Given the description of an element on the screen output the (x, y) to click on. 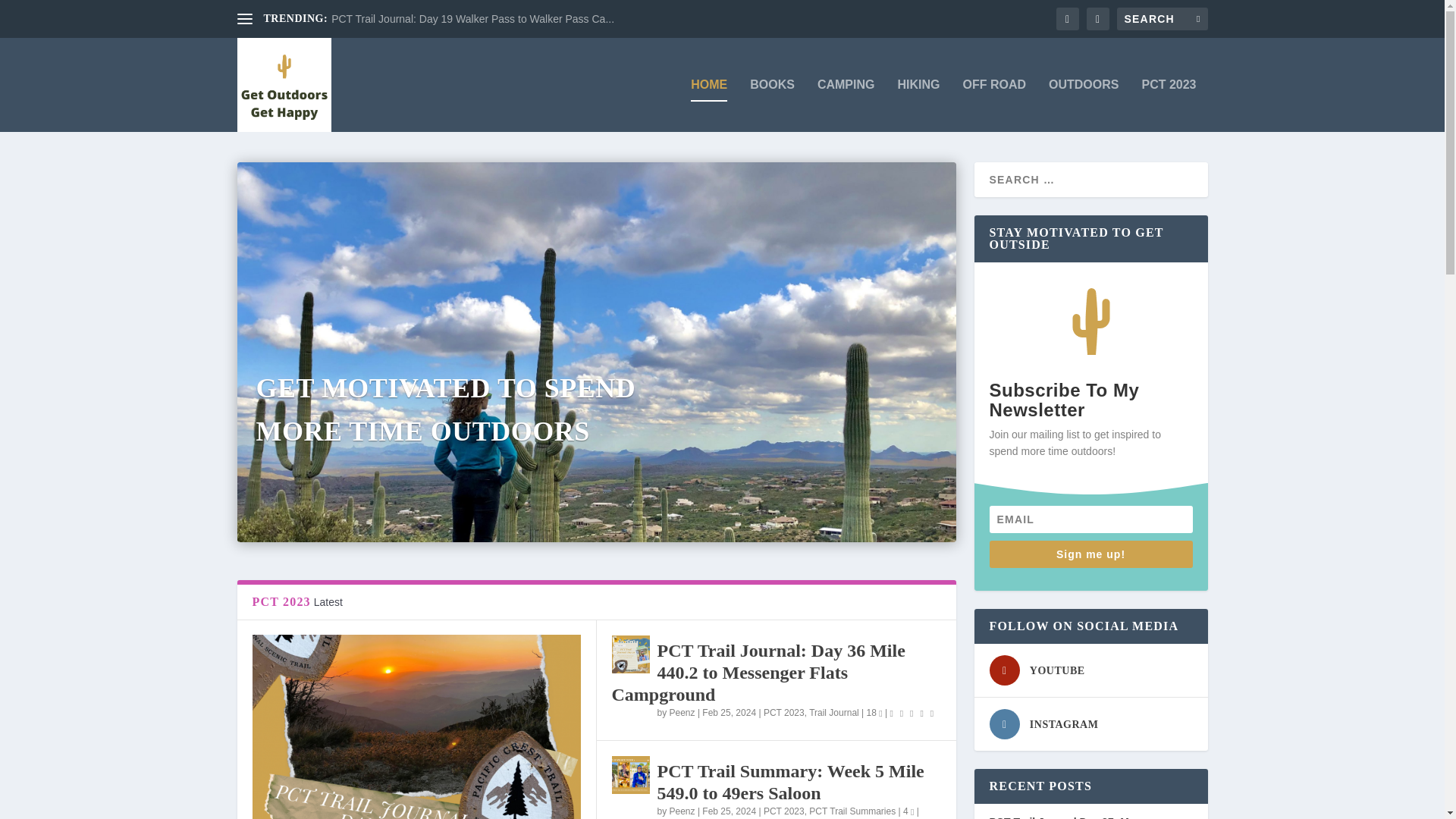
PCT Trail Journal: Day 19 Walker Pass to Walker Pass Ca... (472, 19)
OFF ROAD (994, 104)
Search for: (1161, 18)
Posts by Peenz (682, 712)
PCT Trail Summary: Week 5 Mile 549.0 to 49ers Saloon (630, 774)
Posts by Peenz (682, 810)
OUTDOORS (1083, 104)
PCT 2023 (1168, 104)
